Given the description of an element on the screen output the (x, y) to click on. 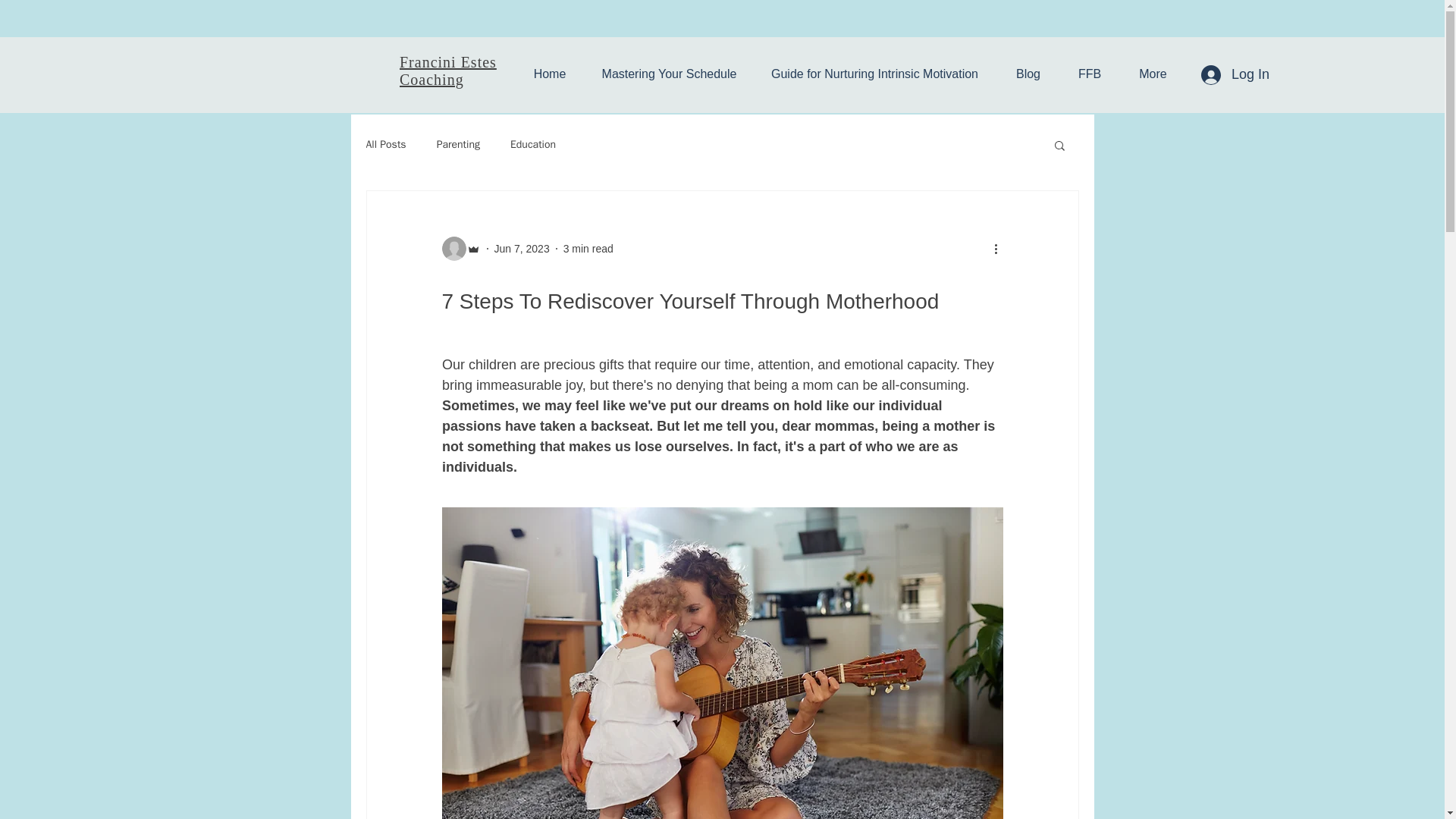
All Posts (385, 144)
Parenting (458, 144)
Blog (1027, 74)
Mastering Your Schedule (668, 74)
FFB (1089, 74)
Francini Estes Coaching (447, 70)
Guide for Nurturing Intrinsic Motivation (873, 74)
Home (549, 74)
Jun 7, 2023 (522, 248)
Log In (1235, 74)
